Given the description of an element on the screen output the (x, y) to click on. 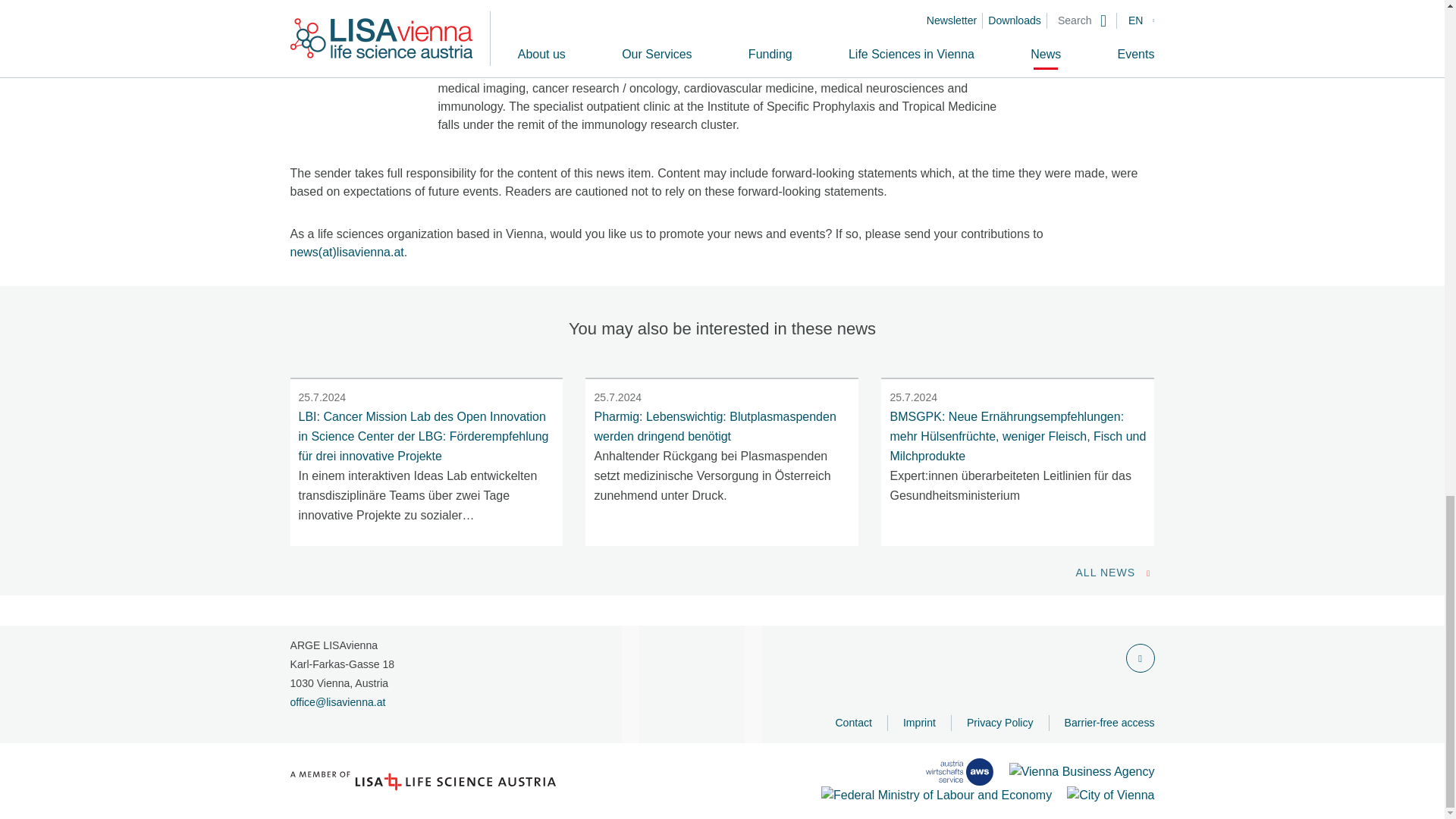
ALL NEWS (1114, 572)
